Given the description of an element on the screen output the (x, y) to click on. 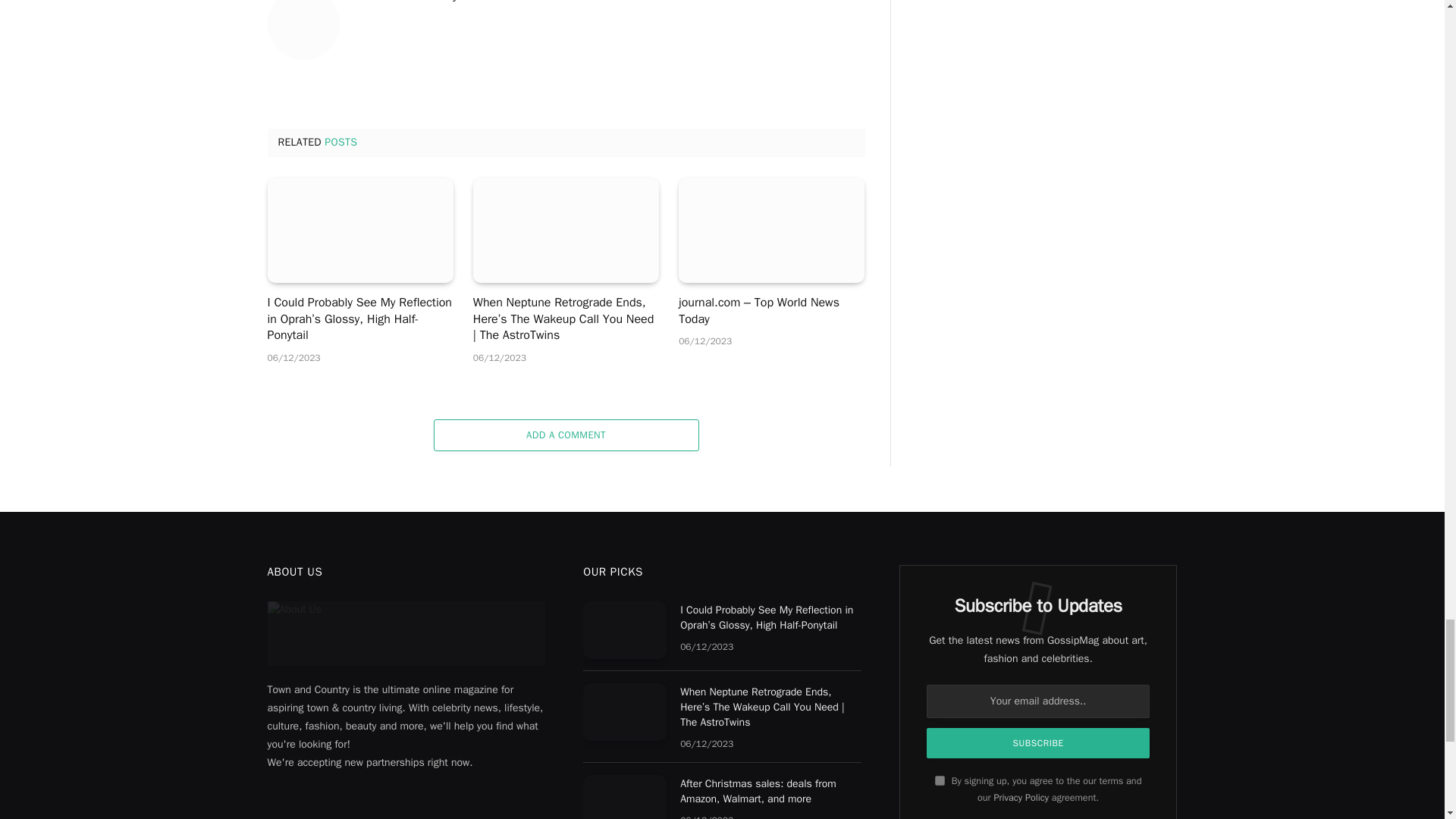
on (939, 780)
Subscribe (1037, 743)
